Given the description of an element on the screen output the (x, y) to click on. 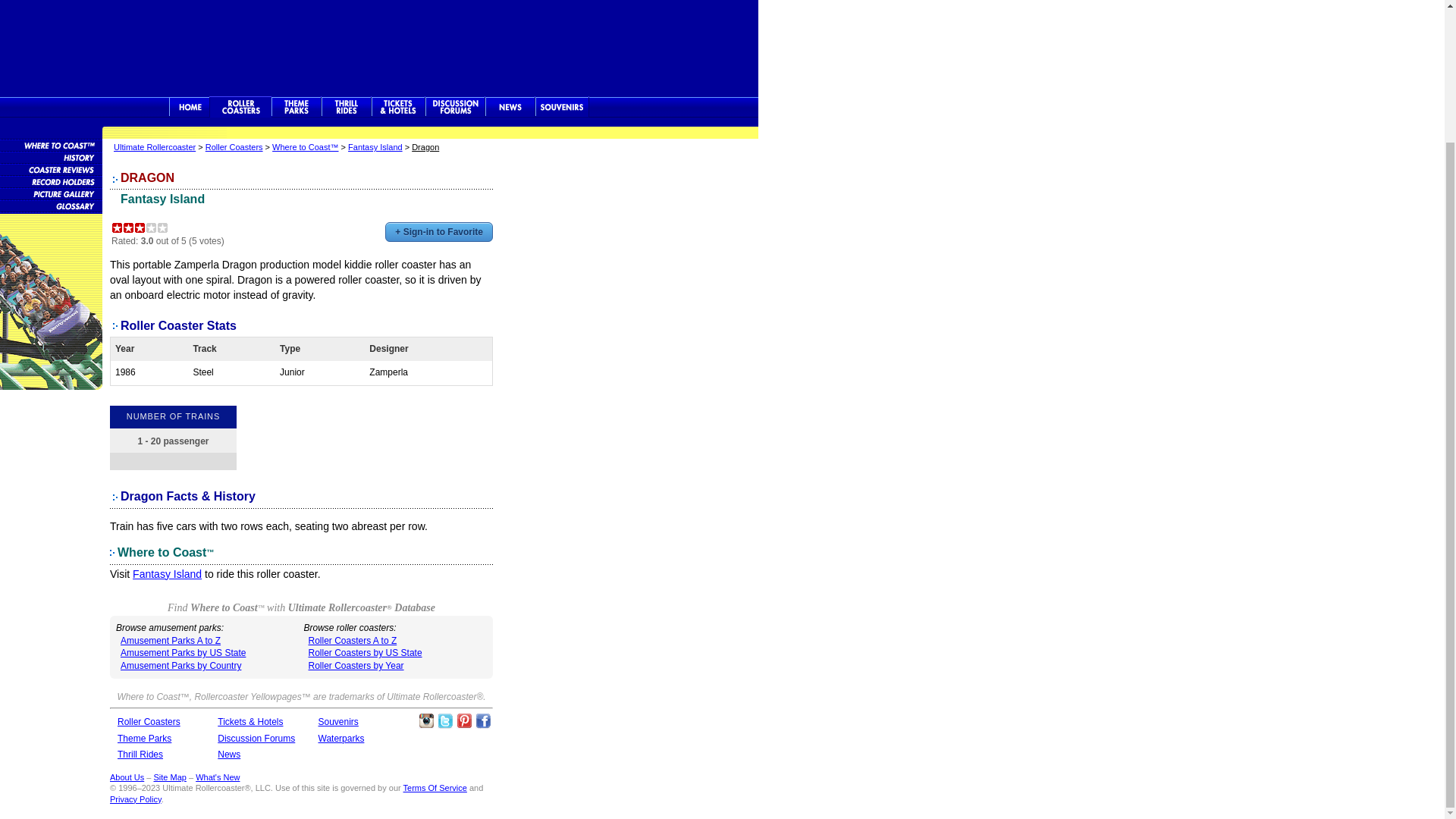
Fantasy Island (162, 198)
News (509, 106)
Roller Coasters A to Z (351, 640)
Roller Coasters by Year (355, 665)
3 out of 5 (139, 227)
Roller Coasters (148, 721)
1 out of 5 (117, 227)
5 out of 5 (162, 227)
Amusement Parks A to Z (170, 640)
Thrill Rides (346, 106)
4 (151, 227)
Fantasy Island (167, 573)
Follow Roller Coasters on Twitter (445, 720)
Amusement Parks by US State (183, 652)
5 (162, 227)
